Given the description of an element on the screen output the (x, y) to click on. 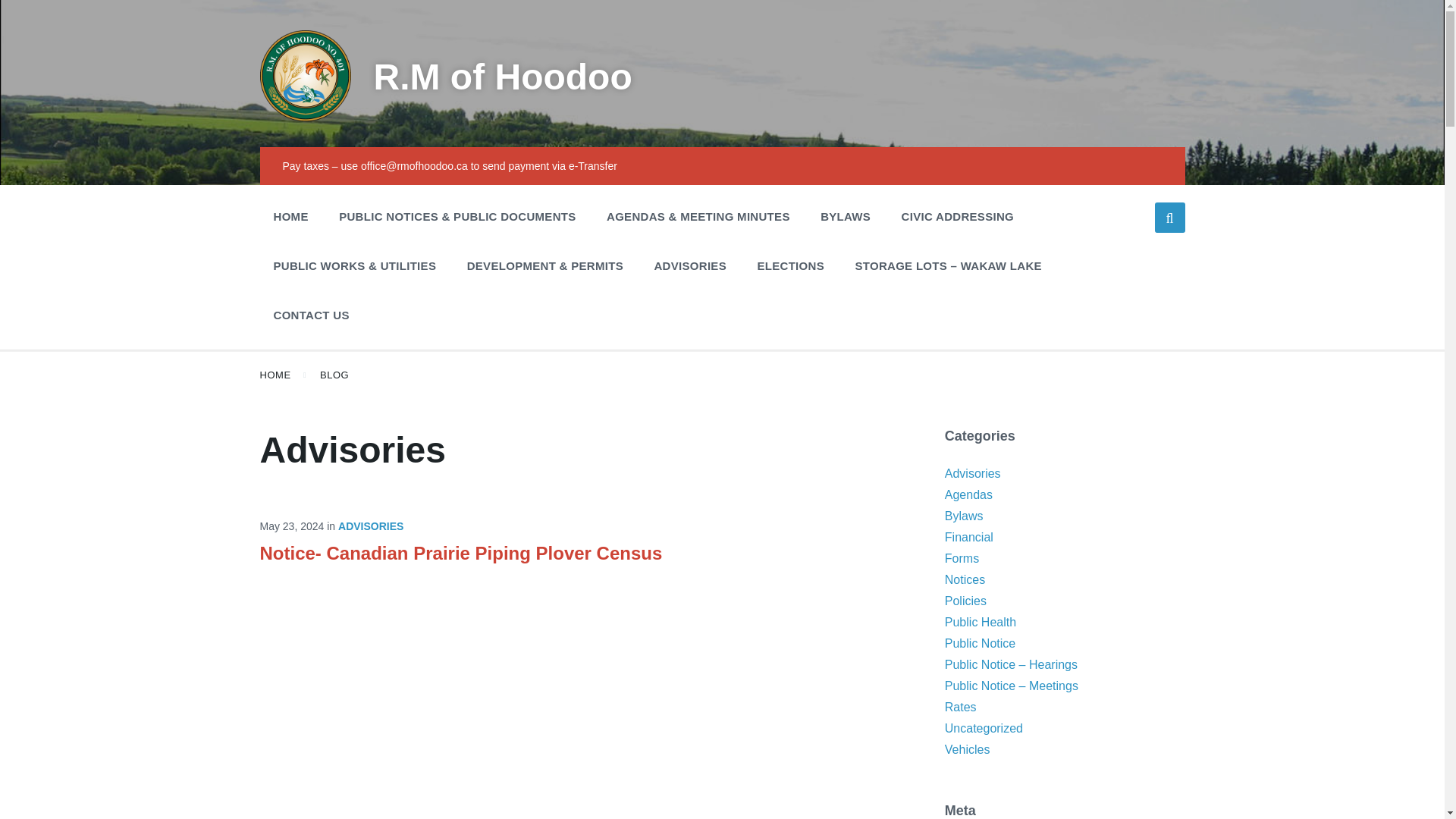
ADVISORIES (690, 265)
ADVISORIES (370, 526)
HOME (290, 216)
Expand search (1169, 217)
BLOG (334, 374)
Category (364, 526)
HOME (274, 374)
BYLAWS (845, 216)
R.M of Hoodoo (501, 76)
CONTACT US (310, 315)
